Given the description of an element on the screen output the (x, y) to click on. 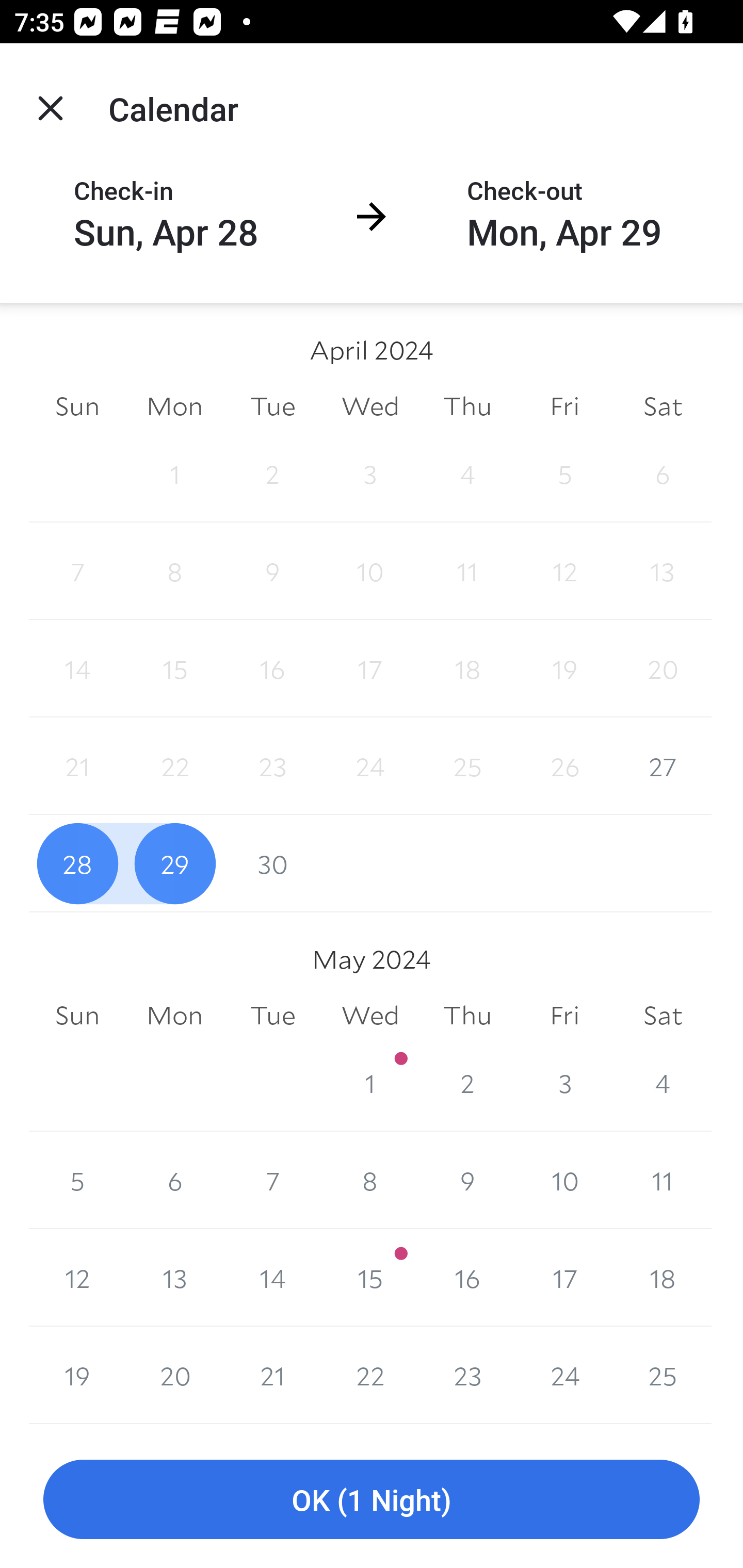
Sun (77, 405)
Mon (174, 405)
Tue (272, 405)
Wed (370, 405)
Thu (467, 405)
Fri (564, 405)
Sat (662, 405)
1 1 April 2024 (174, 473)
2 2 April 2024 (272, 473)
3 3 April 2024 (370, 473)
4 4 April 2024 (467, 473)
5 5 April 2024 (564, 473)
6 6 April 2024 (662, 473)
7 7 April 2024 (77, 570)
8 8 April 2024 (174, 570)
9 9 April 2024 (272, 570)
10 10 April 2024 (370, 570)
11 11 April 2024 (467, 570)
12 12 April 2024 (564, 570)
13 13 April 2024 (662, 570)
14 14 April 2024 (77, 668)
15 15 April 2024 (174, 668)
16 16 April 2024 (272, 668)
17 17 April 2024 (370, 668)
18 18 April 2024 (467, 668)
19 19 April 2024 (564, 668)
20 20 April 2024 (662, 668)
21 21 April 2024 (77, 766)
22 22 April 2024 (174, 766)
23 23 April 2024 (272, 766)
24 24 April 2024 (370, 766)
25 25 April 2024 (467, 766)
26 26 April 2024 (564, 766)
27 27 April 2024 (662, 766)
28 28 April 2024 (77, 863)
29 29 April 2024 (174, 863)
30 30 April 2024 (272, 863)
Sun (77, 1015)
Mon (174, 1015)
Tue (272, 1015)
Wed (370, 1015)
Thu (467, 1015)
Fri (564, 1015)
Sat (662, 1015)
1 1 May 2024 (370, 1083)
2 2 May 2024 (467, 1083)
3 3 May 2024 (564, 1083)
4 4 May 2024 (662, 1083)
5 5 May 2024 (77, 1180)
